Given the description of an element on the screen output the (x, y) to click on. 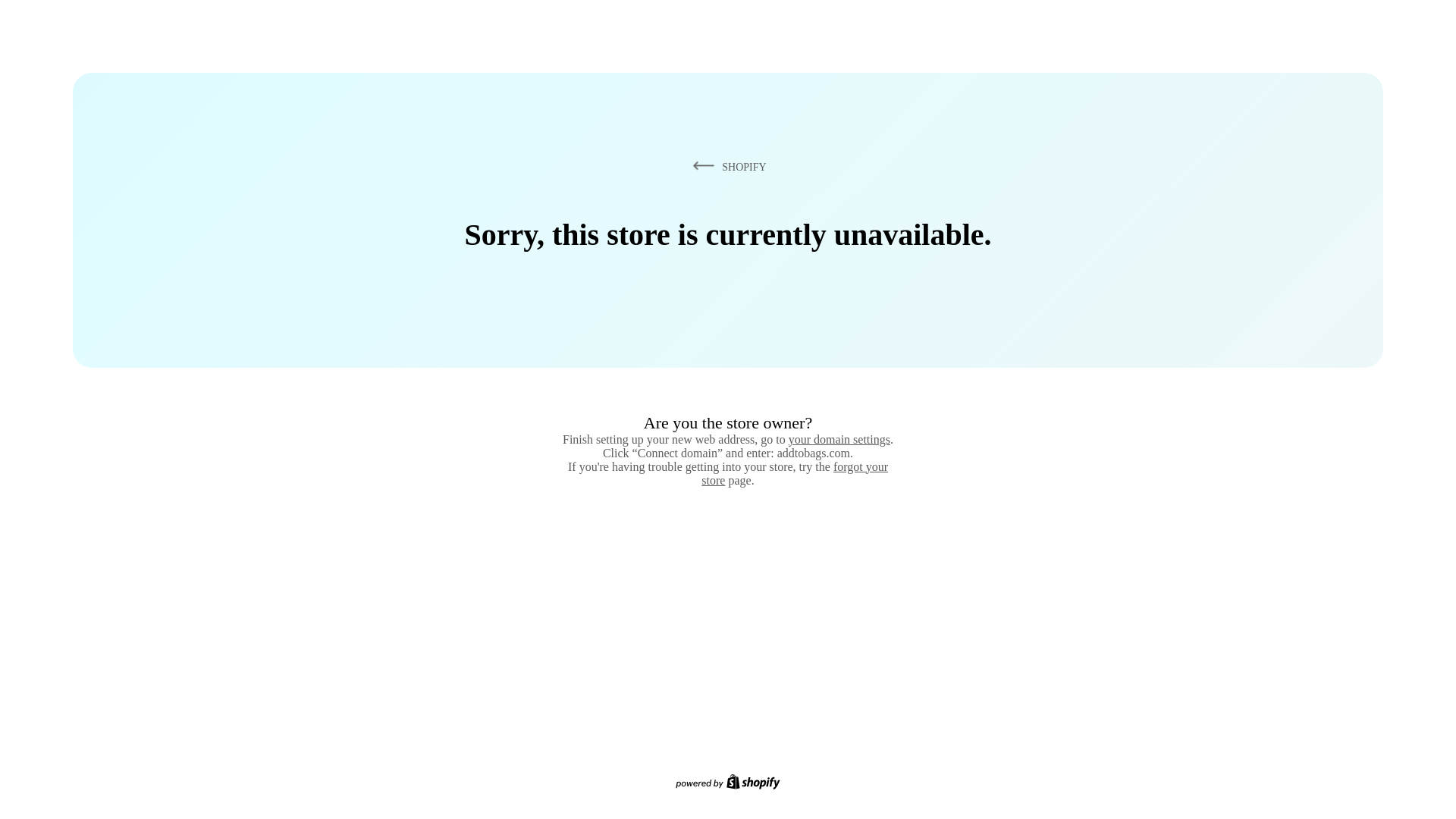
forgot your store (794, 473)
SHOPIFY (726, 166)
your domain settings (839, 439)
